Given the description of an element on the screen output the (x, y) to click on. 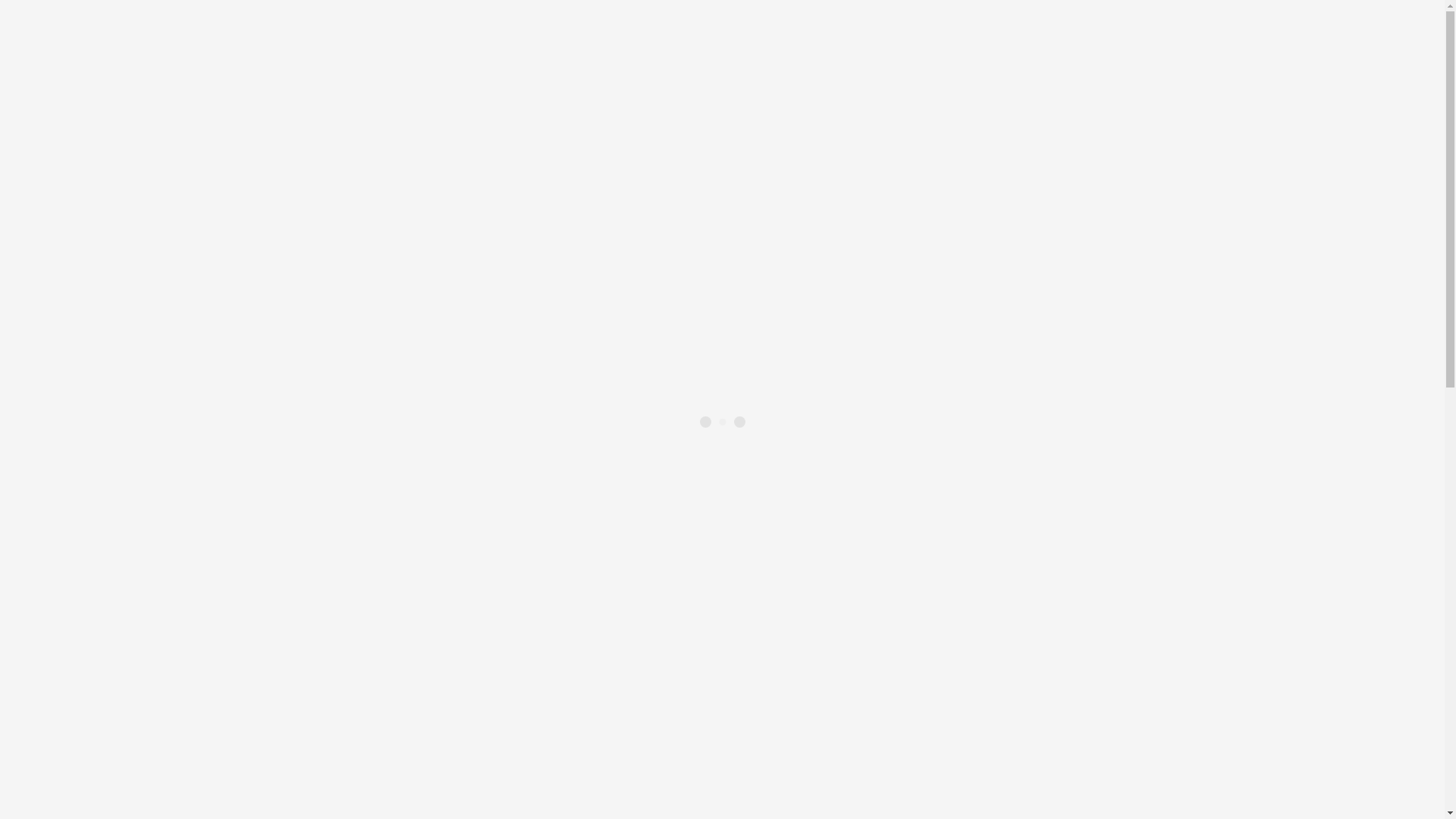
Milizac : 02 98 07 90 31 / Guipronvel : 02 98 07 90 33 Element type: text (169, 721)
Fermer la barre des infos flash Element type: hover (12, 699)
CONTACT Element type: text (64, 734)
